Given the description of an element on the screen output the (x, y) to click on. 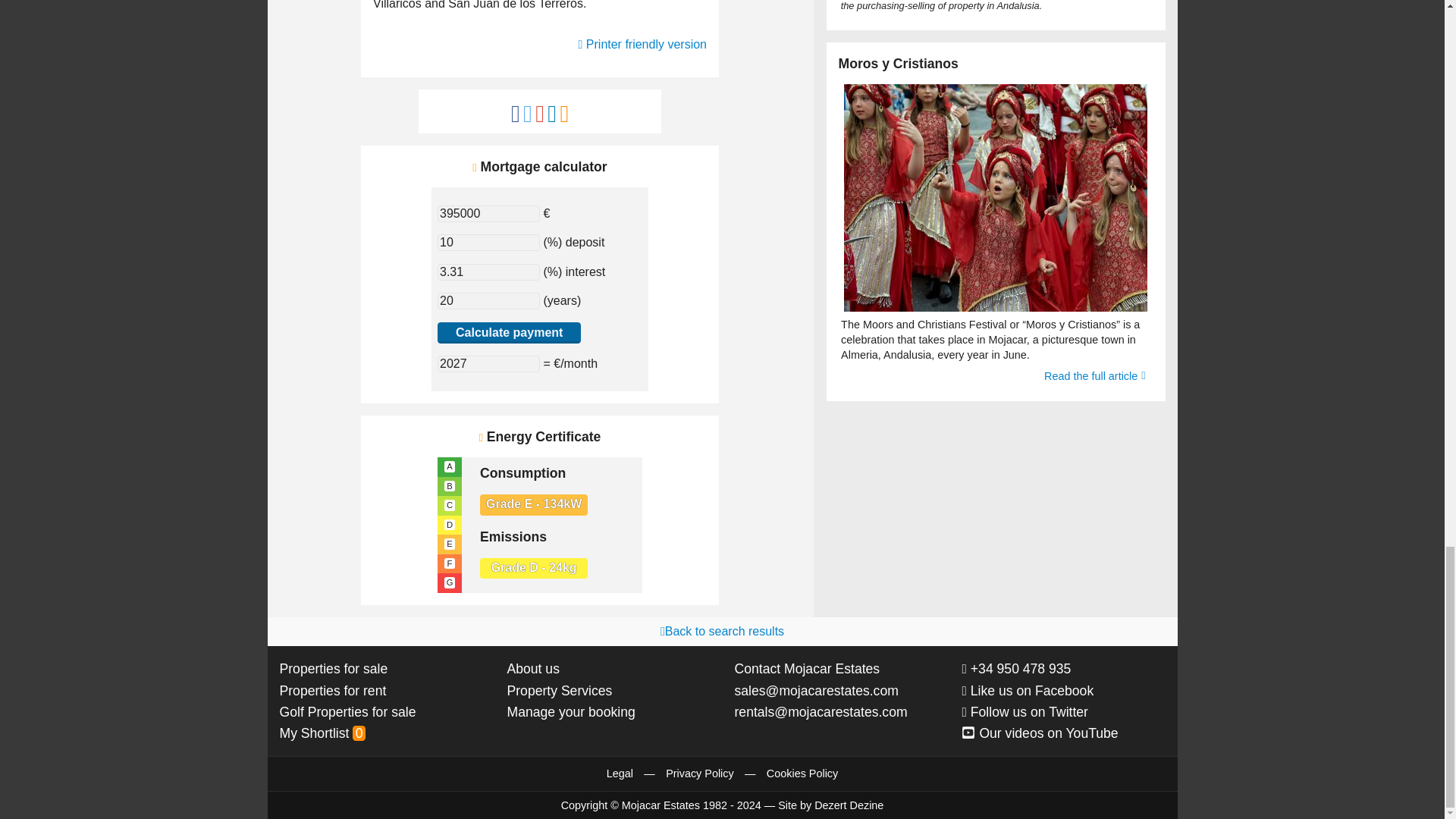
395000 (489, 213)
Calculate payment (509, 332)
Properties for rent (332, 690)
10 (489, 242)
Property Services (558, 690)
20 (489, 300)
Properties for sale (333, 668)
Manage your booking (570, 711)
Back to search results (722, 631)
2027 (489, 363)
Golf Properties for sale (346, 711)
Printer friendly version (642, 43)
Read the full article (1093, 376)
About us (532, 668)
Contact Mojacar Estates (806, 668)
